Given the description of an element on the screen output the (x, y) to click on. 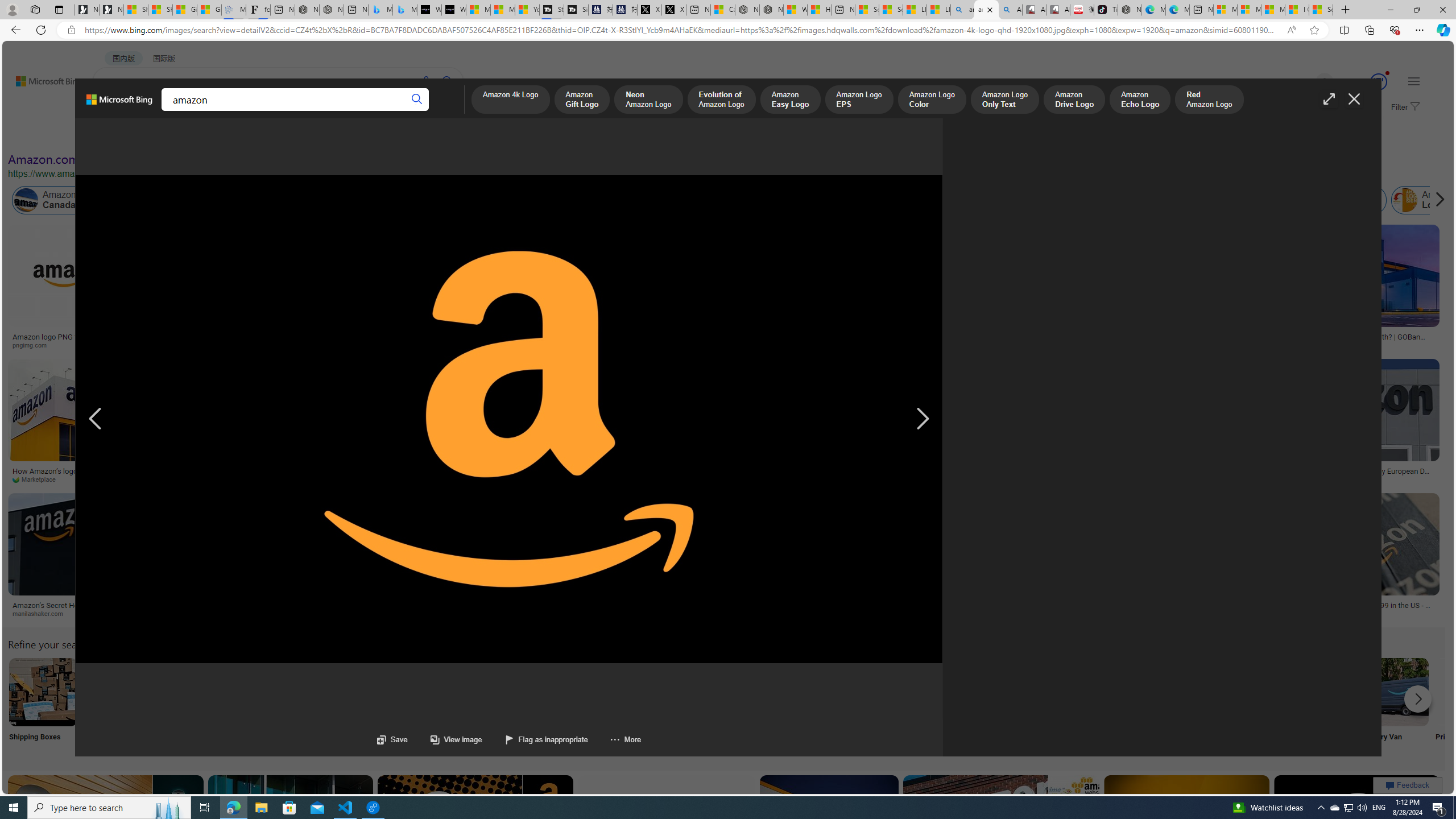
Microsoft Rewards 141 (1364, 81)
protothema.gr (466, 613)
Red Amazon Logo (1208, 100)
Amazon Login (1405, 200)
More (625, 739)
Amazon Prime Online (137, 200)
Newsletter Sign Up (111, 9)
amazon - Search Images (986, 9)
